Given the description of an element on the screen output the (x, y) to click on. 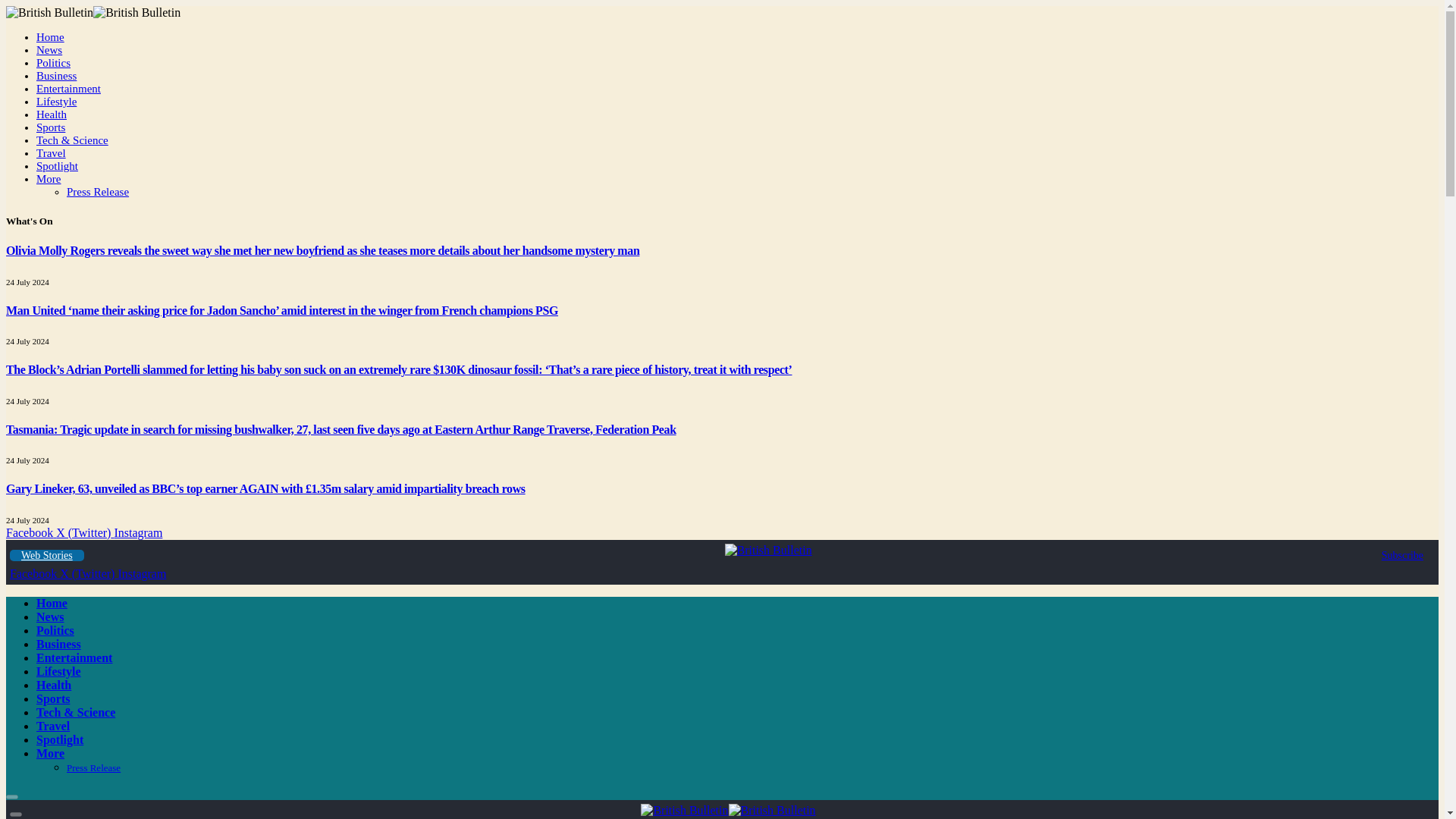
Business (56, 75)
Sports (50, 127)
Travel (50, 152)
Web Stories (47, 555)
News (49, 50)
Spotlight (57, 165)
Health (53, 684)
Instagram (137, 532)
Business (58, 644)
Politics (52, 62)
Instagram (141, 573)
British Bulletin (727, 809)
Facebook (34, 573)
